Given the description of an element on the screen output the (x, y) to click on. 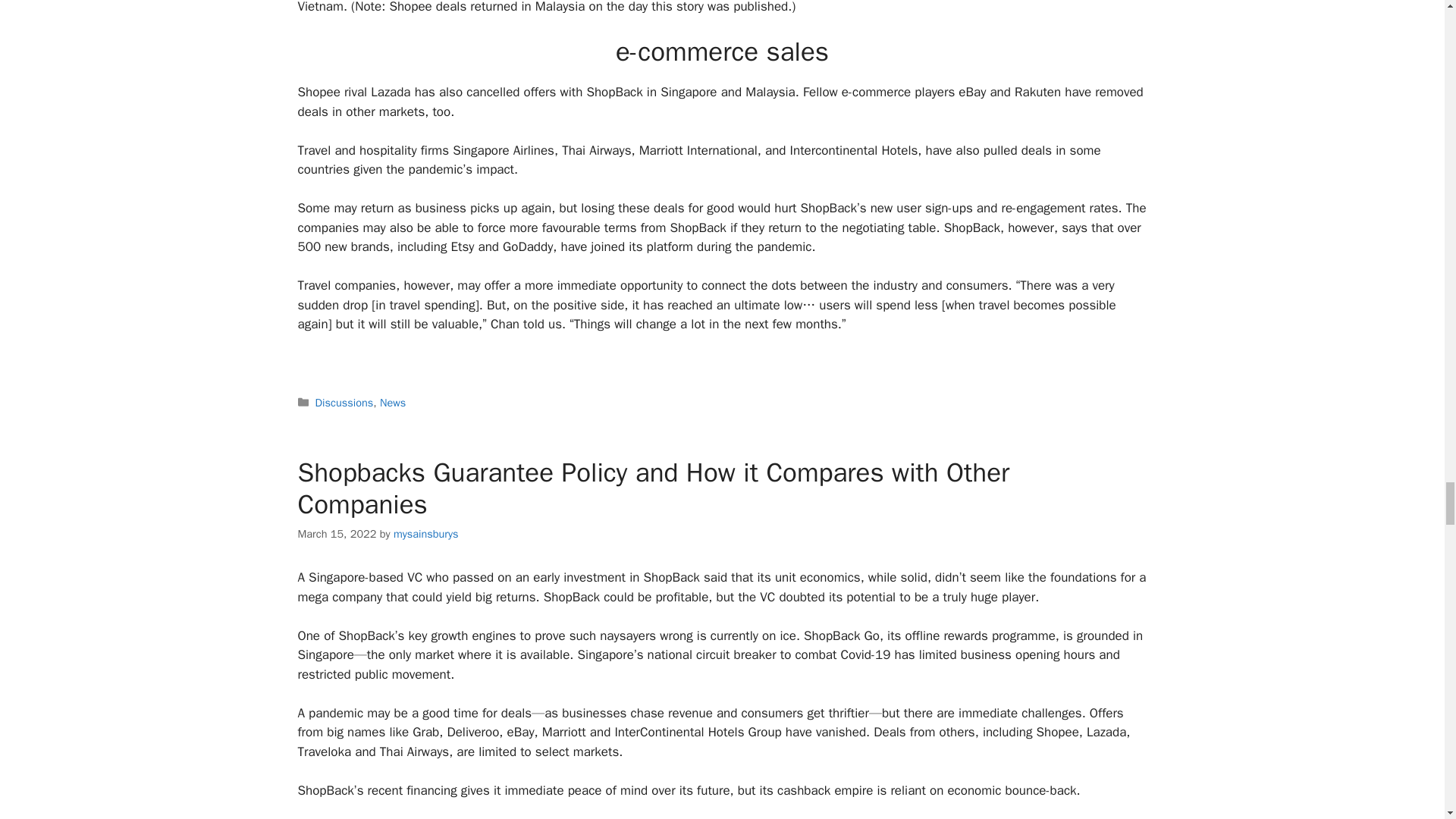
View all posts by mysainsburys (425, 533)
